Given the description of an element on the screen output the (x, y) to click on. 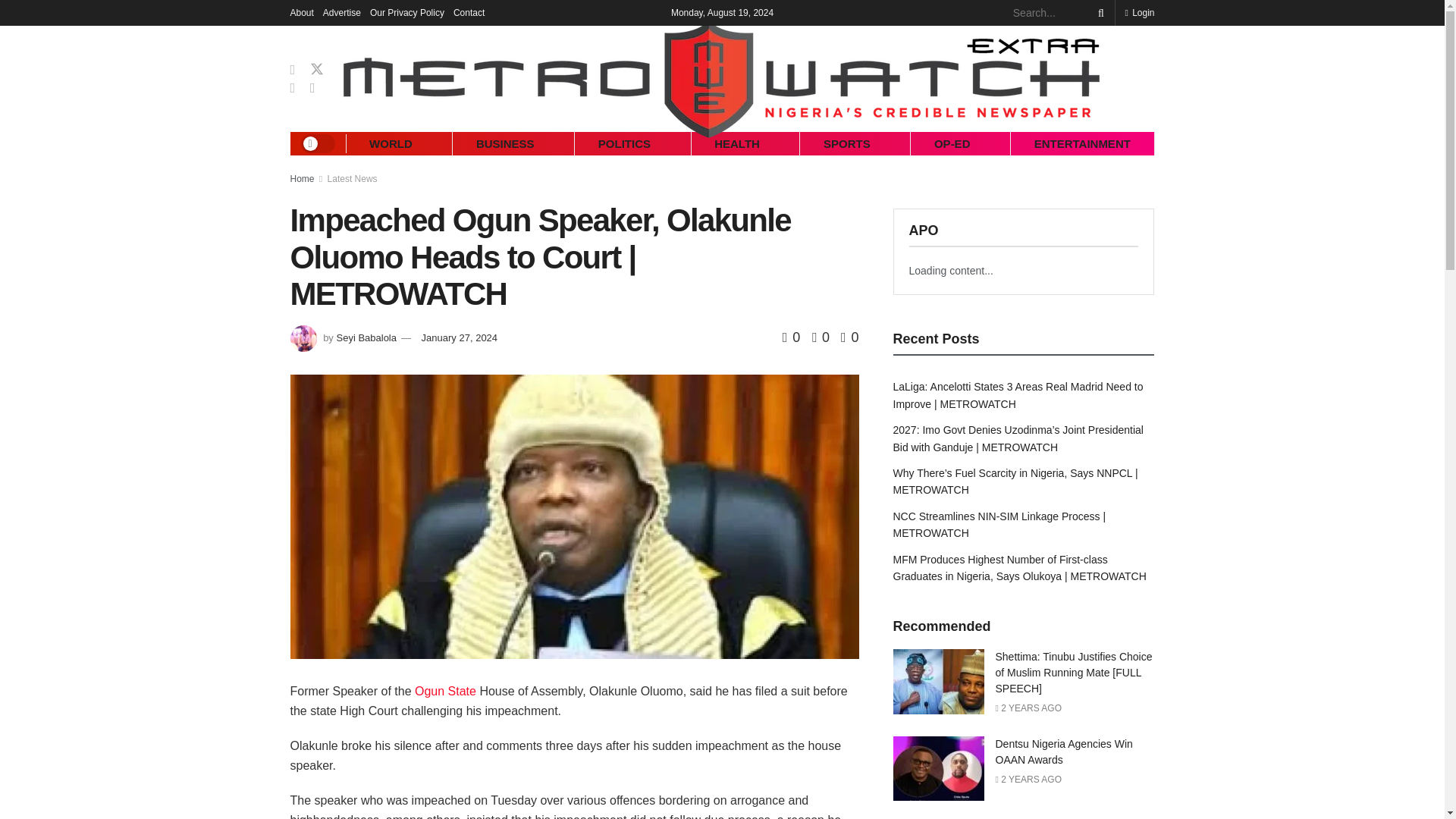
0 (850, 337)
Seyi Babalola (366, 337)
Advertise (342, 12)
HEALTH (737, 143)
OP-ED (951, 143)
Latest News (352, 178)
SPORTS (846, 143)
BUSINESS (504, 143)
Contact (468, 12)
Login (1139, 12)
